Given the description of an element on the screen output the (x, y) to click on. 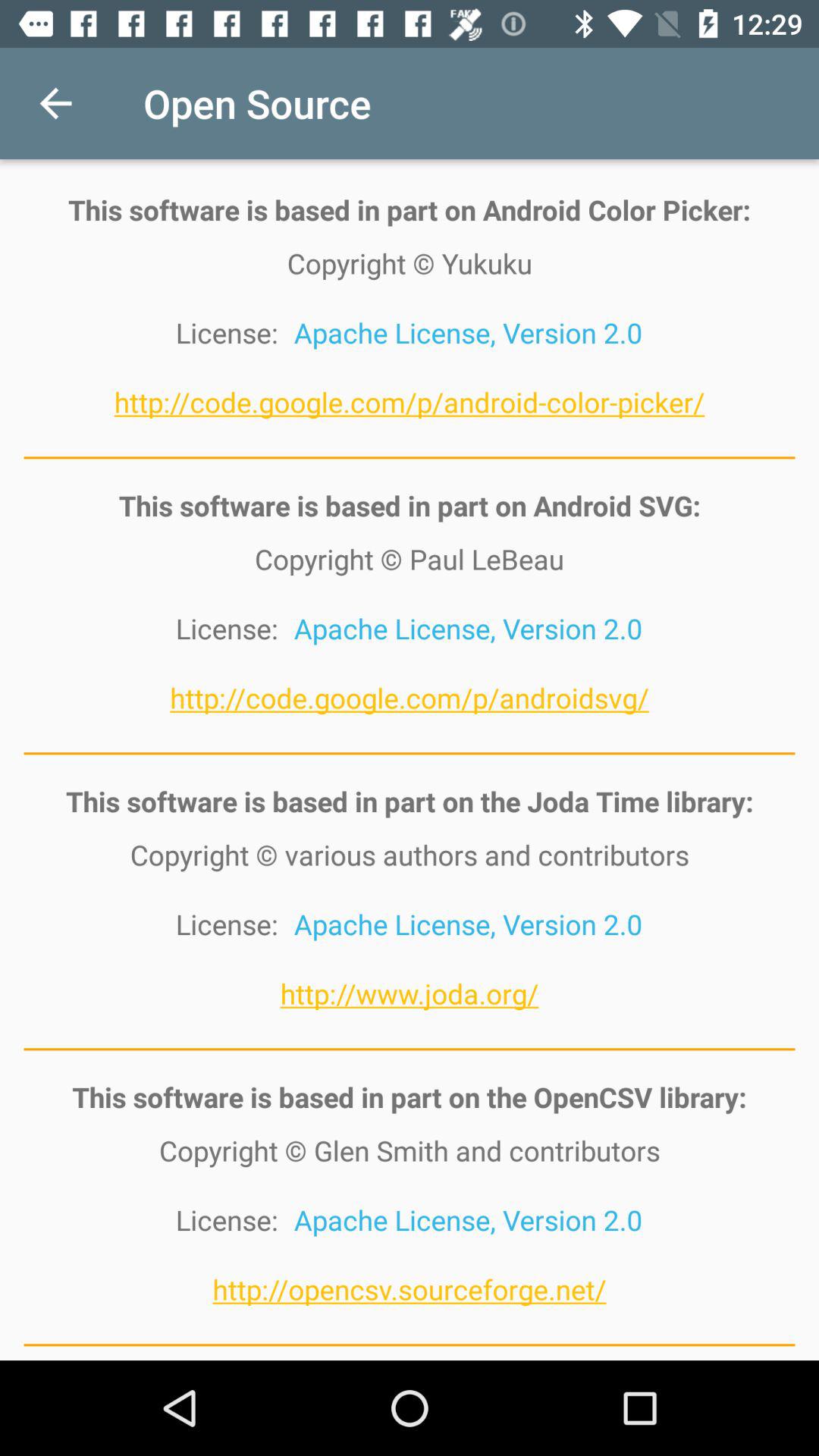
click the icon above this software is icon (55, 103)
